Given the description of an element on the screen output the (x, y) to click on. 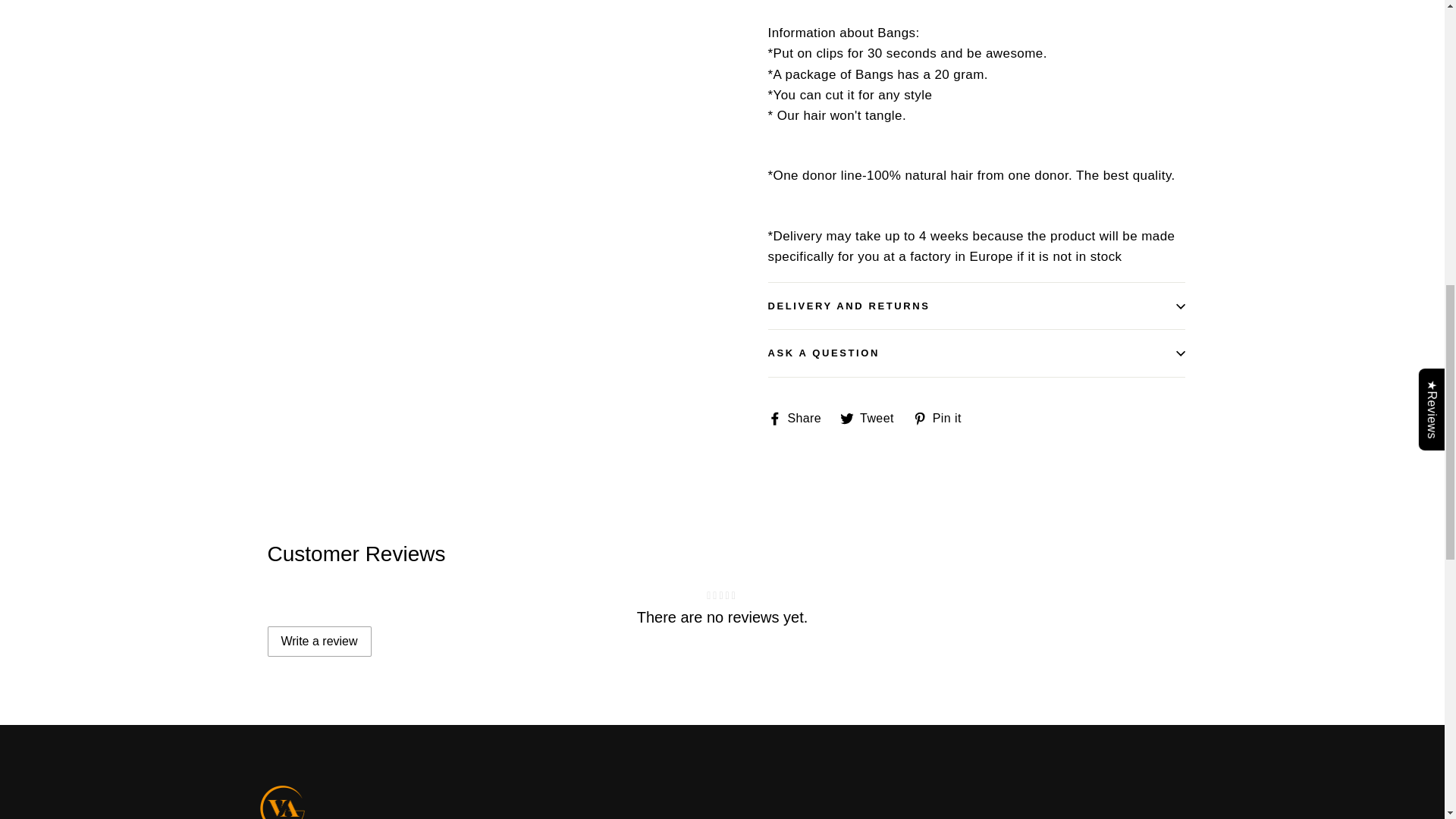
Share on Facebook (799, 418)
Tweet on Twitter (872, 418)
Pin on Pinterest (942, 418)
